Given the description of an element on the screen output the (x, y) to click on. 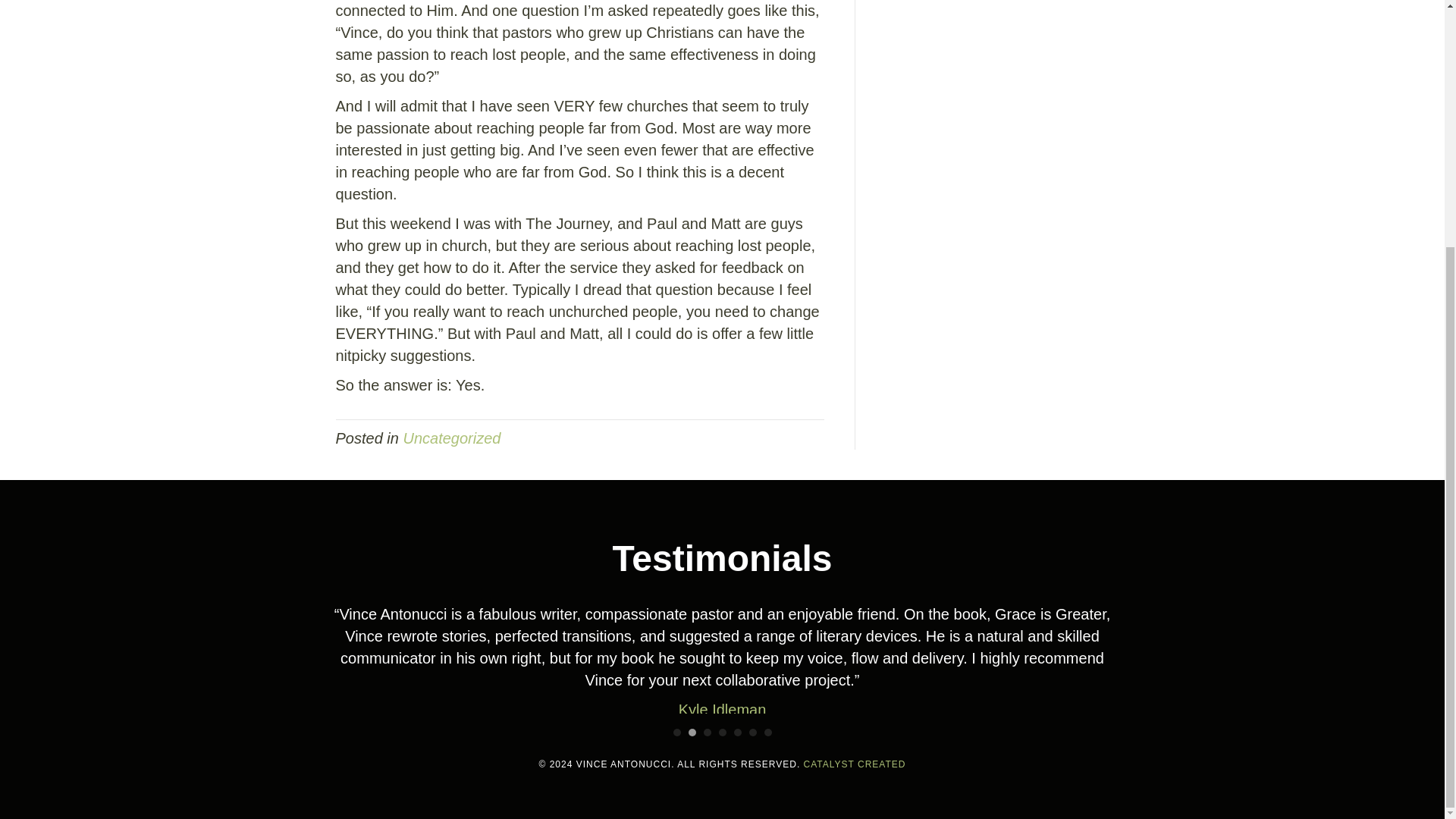
Uncategorized (451, 437)
5 (737, 732)
6 (753, 732)
CATALYST CREATED (854, 764)
3 (707, 732)
4 (722, 732)
Kyle Idleman (722, 709)
2 (691, 732)
1 (676, 732)
7 (767, 732)
